Given the description of an element on the screen output the (x, y) to click on. 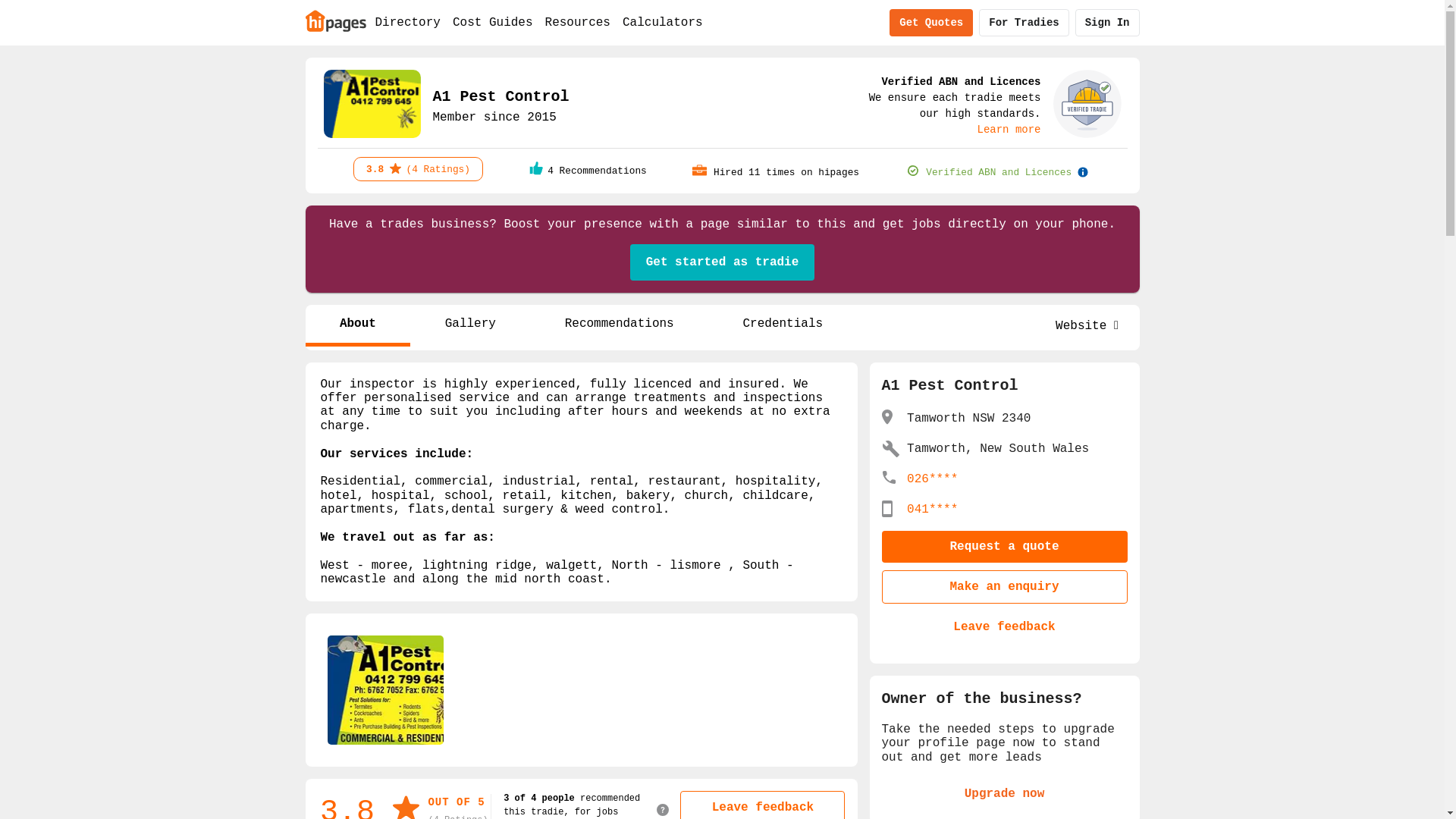
Get started as tradie Element type: text (722, 262)
Learn more Element type: text (1008, 130)
Recommendations Element type: text (619, 325)
Cost Guides Element type: text (492, 22)
For Tradies Element type: text (1023, 22)
Leave feedback Element type: text (1003, 627)
Credentials Element type: text (782, 325)
Upgrade now Element type: text (1003, 793)
Directory Element type: text (406, 22)
Get started as tradie Element type: text (722, 262)
Gallery Element type: text (470, 325)
Get Quotes Element type: text (930, 22)
Request a quote Element type: text (1003, 546)
Sign In Element type: text (1107, 22)
026**** Element type: text (931, 479)
Resources Element type: text (577, 22)
For Tradies Element type: text (1023, 22)
Calculators Element type: text (662, 22)
Home Element type: hover (334, 20)
041**** Element type: text (931, 509)
About Element type: text (357, 325)
Upgrade now Element type: text (1003, 793)
Make an enquiry Element type: text (1003, 586)
